Given the description of an element on the screen output the (x, y) to click on. 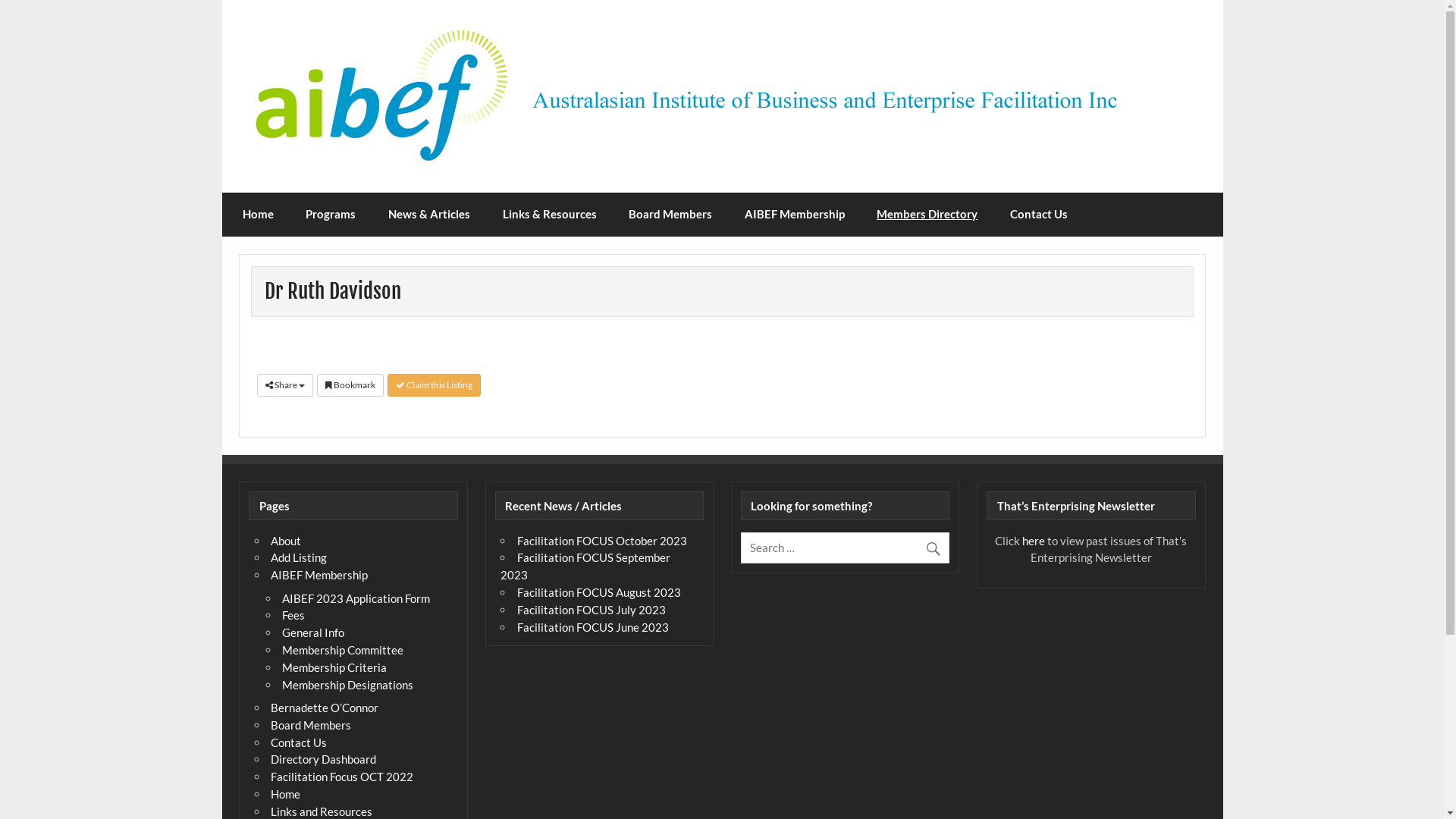
here Element type: text (1033, 540)
Facilitation FOCUS October 2023 Element type: text (602, 540)
Claim this Listing Element type: text (433, 384)
About Element type: text (285, 540)
Fees Element type: text (293, 614)
Contact Us Element type: text (1039, 214)
Membership Criteria Element type: text (334, 667)
Share Element type: text (285, 384)
Links & Resources Element type: text (549, 214)
Add Listing Element type: text (298, 557)
Board Members Element type: text (670, 214)
Facilitation FOCUS September 2023 Element type: text (584, 565)
Board Members Element type: text (310, 724)
Programs Element type: text (330, 214)
AIBEF Membership Element type: text (794, 214)
Membership Designations Element type: text (347, 684)
Directory Dashboard Element type: text (323, 758)
Facilitation FOCUS July 2023 Element type: text (591, 609)
Members Directory Element type: text (927, 214)
Bookmark Element type: text (349, 384)
Facilitation Focus OCT 2022 Element type: text (341, 776)
AIBEF Membership Element type: text (318, 574)
Membership Committee Element type: text (342, 649)
Skip to content Element type: text (0, 0)
Links and Resources Element type: text (321, 811)
Facilitation FOCUS August 2023 Element type: text (598, 592)
News & Articles Element type: text (429, 214)
General Info Element type: text (313, 632)
Contact Us Element type: text (298, 742)
AIBEF Element type: text (270, 51)
Facilitation FOCUS June 2023 Element type: text (592, 626)
AIBEF 2023 Application Form Element type: text (355, 598)
Home Element type: text (285, 793)
Home Element type: text (258, 214)
